Given the description of an element on the screen output the (x, y) to click on. 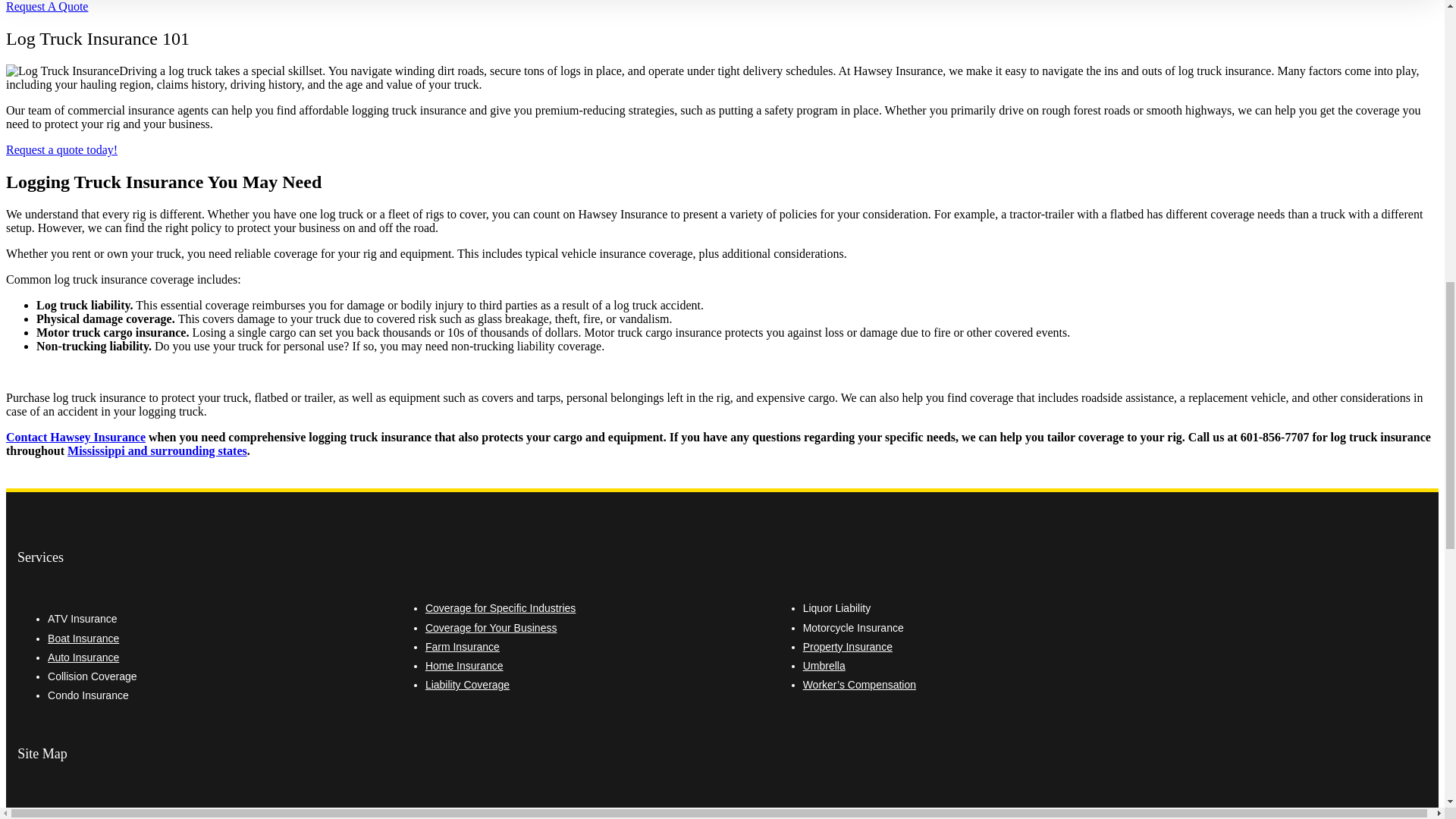
Geography Served (156, 450)
Request a quote today! (61, 149)
Request A Quote (61, 149)
Contact Hawsey Insurance (75, 436)
Request A Quote (46, 6)
Contact Hawsey Insurance (75, 436)
